Given the description of an element on the screen output the (x, y) to click on. 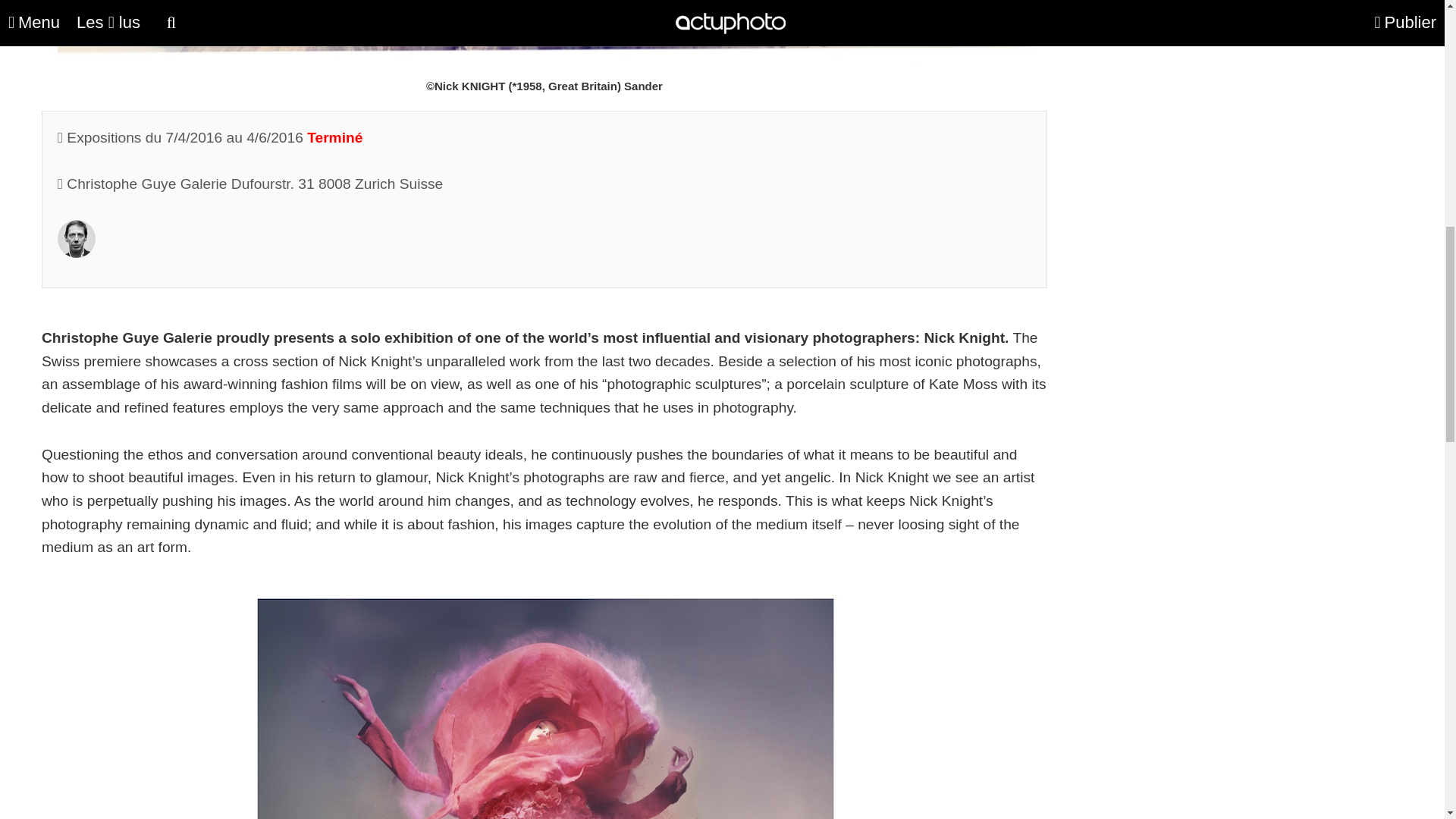
Nick Knight (77, 252)
